Given the description of an element on the screen output the (x, y) to click on. 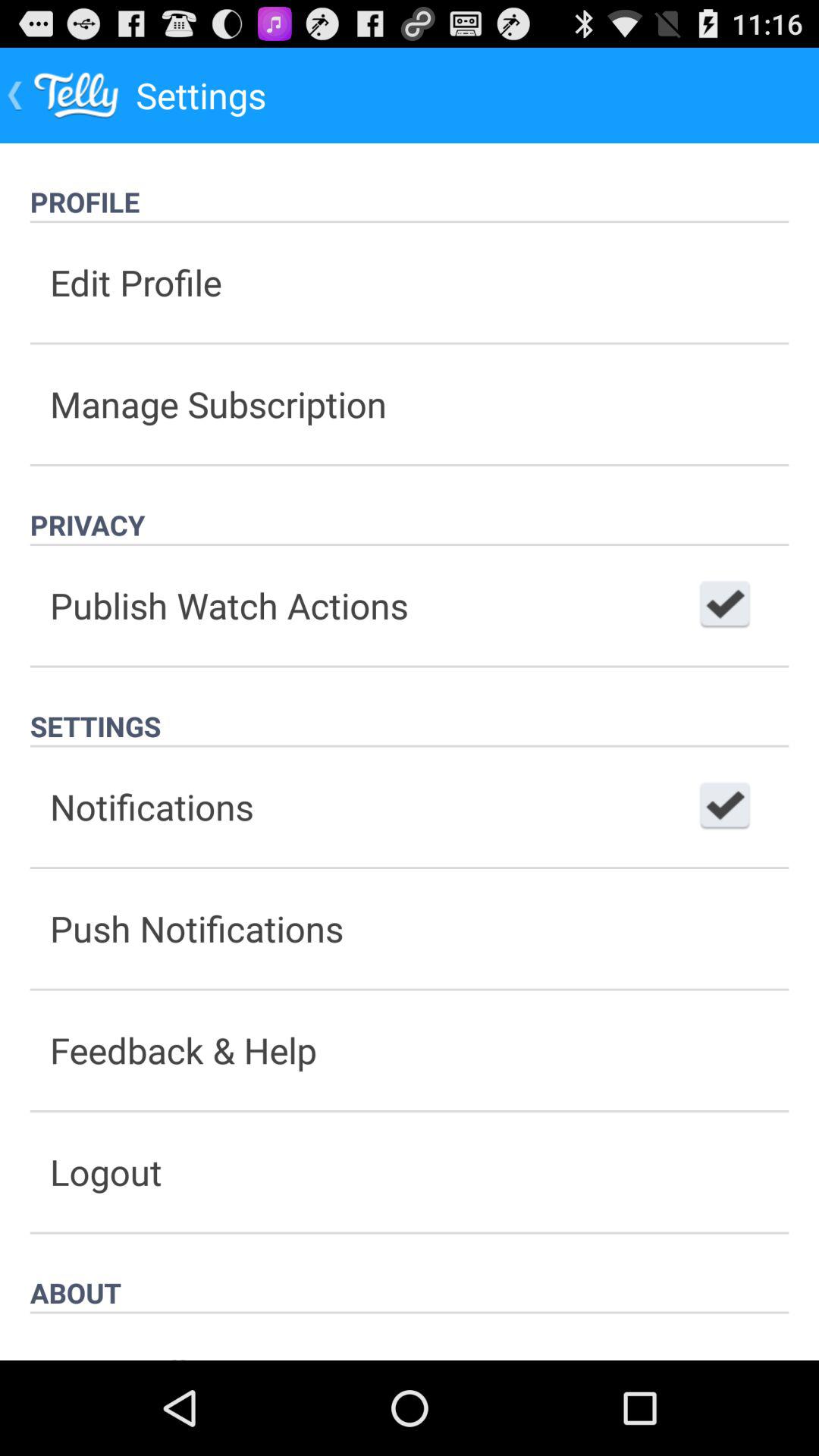
click logout button (409, 1171)
